Given the description of an element on the screen output the (x, y) to click on. 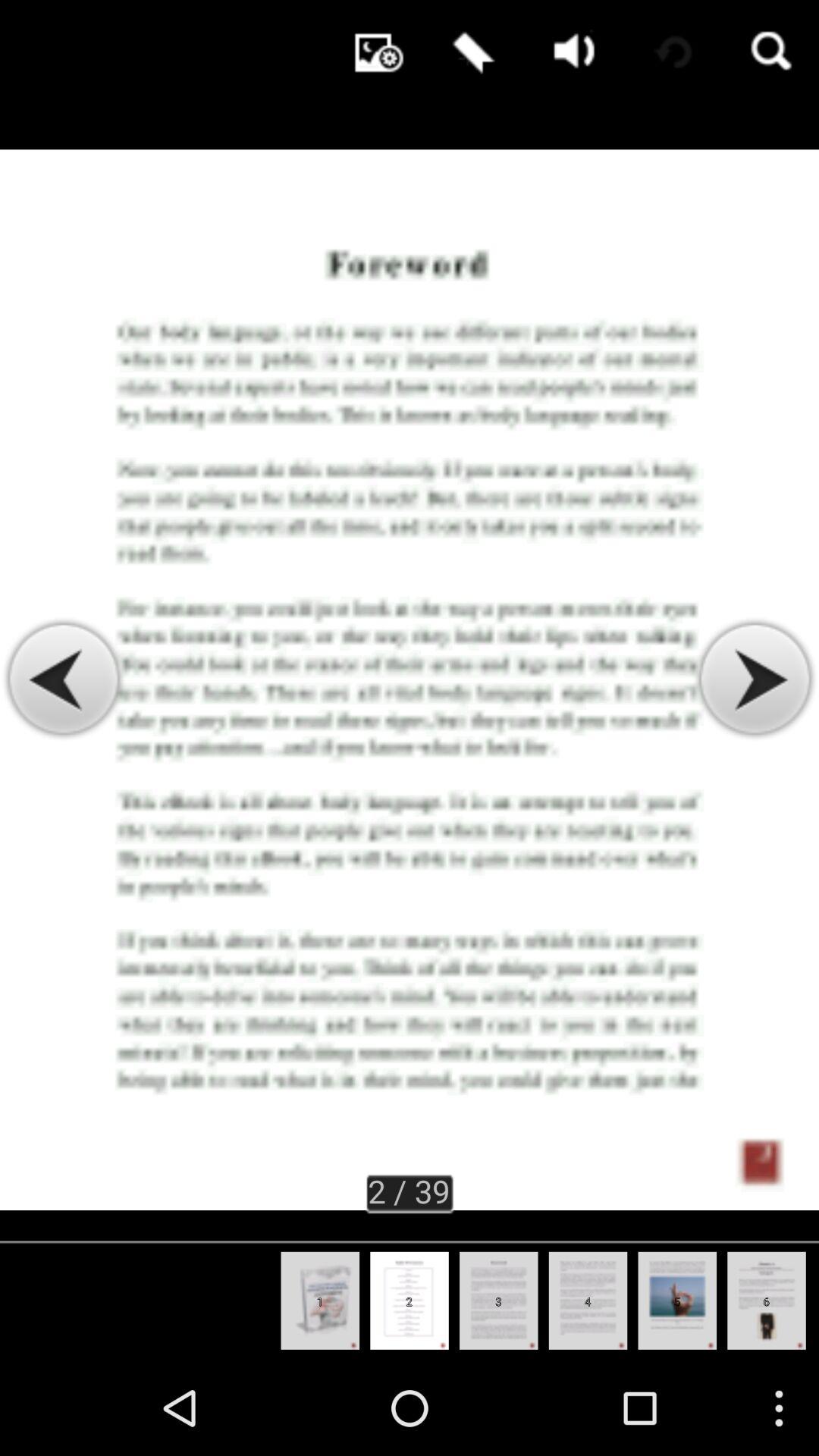
click on fifth image at bottom (677, 1300)
select the 3rd slide at the bottom (498, 1300)
select the slide show beside fifth slide (766, 1300)
select the fourth page from the sequence of pages (587, 1300)
